Given the description of an element on the screen output the (x, y) to click on. 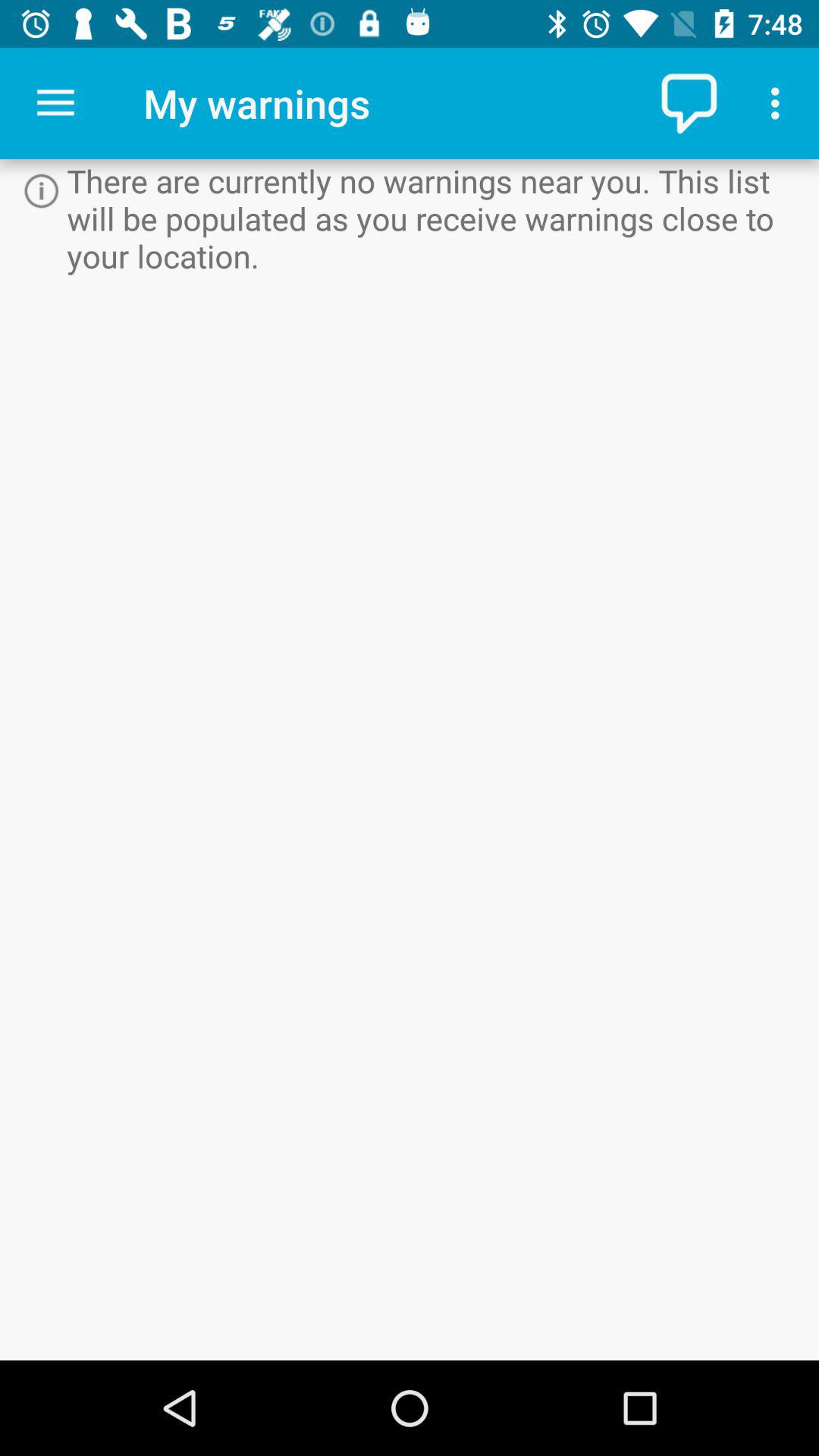
press icon above there are currently icon (779, 103)
